Given the description of an element on the screen output the (x, y) to click on. 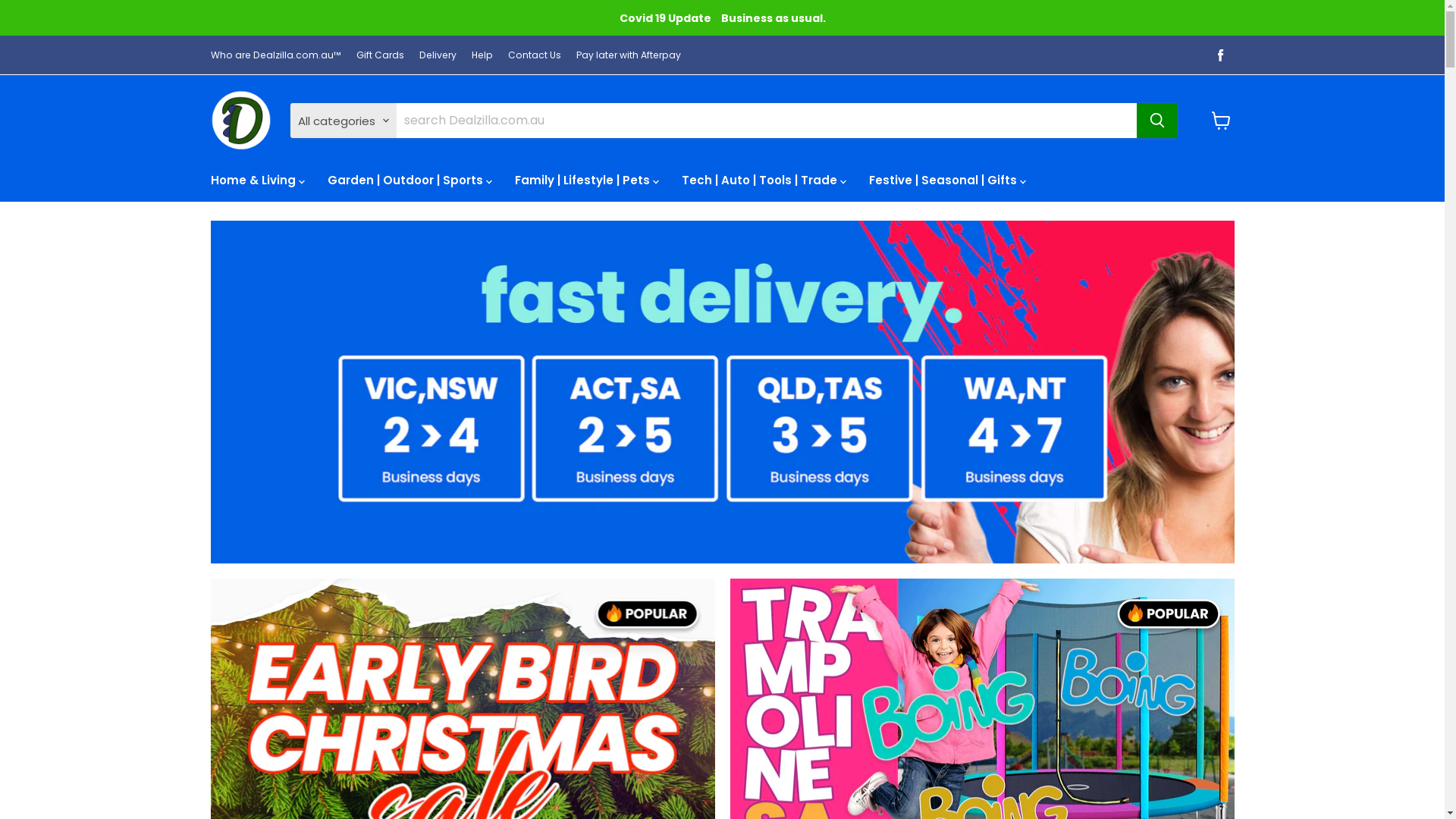
Gift Cards Element type: text (380, 55)
Help Element type: text (481, 55)
Delivery Element type: text (436, 55)
View cart Element type: text (1221, 120)
Contact Us Element type: text (534, 55)
Find us on Facebook Element type: text (1220, 54)
Pay later with Afterpay Element type: text (628, 55)
